Given the description of an element on the screen output the (x, y) to click on. 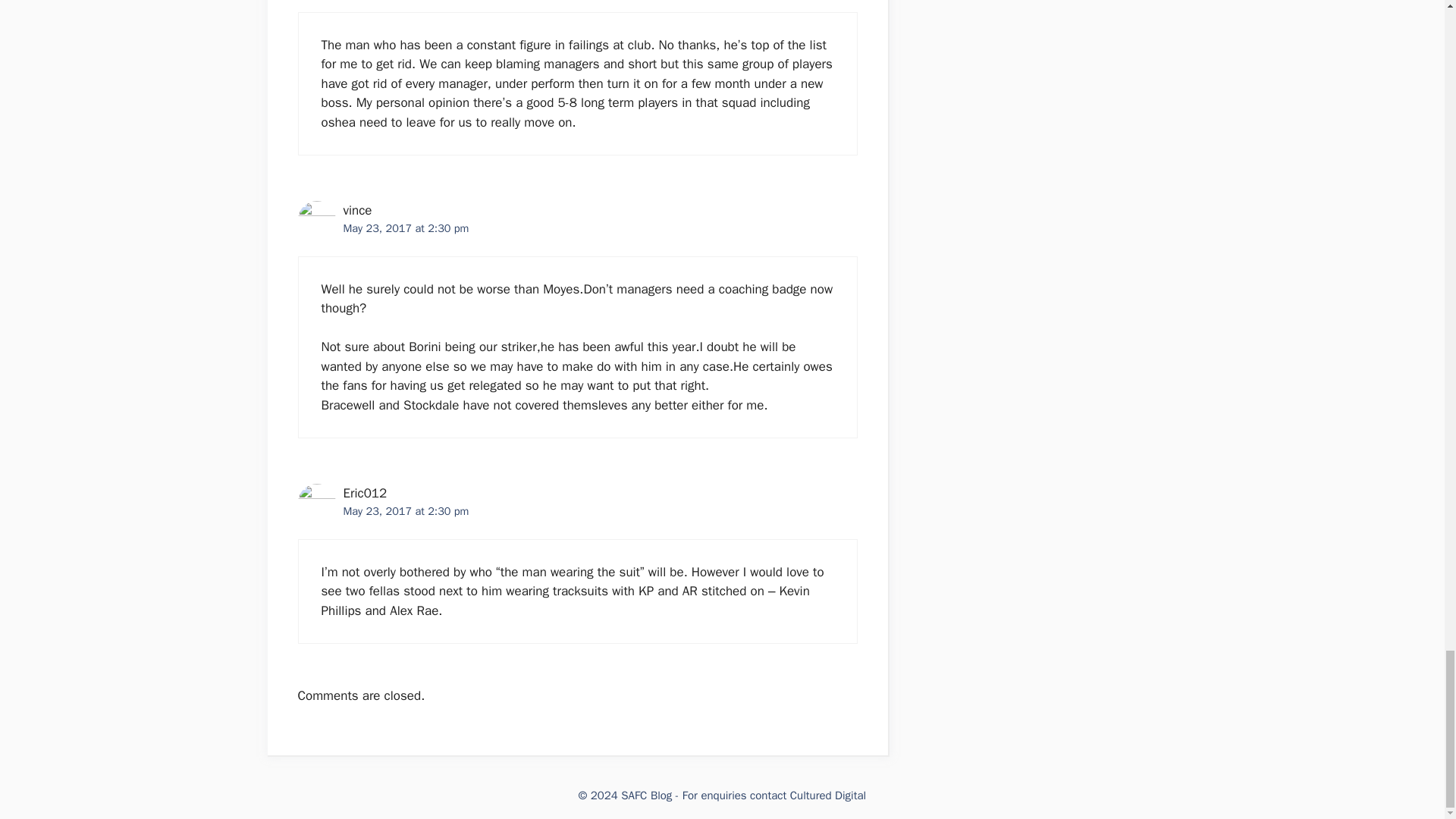
May 23, 2017 at 2:30 pm (405, 510)
May 23, 2017 at 2:30 pm (405, 228)
